Given the description of an element on the screen output the (x, y) to click on. 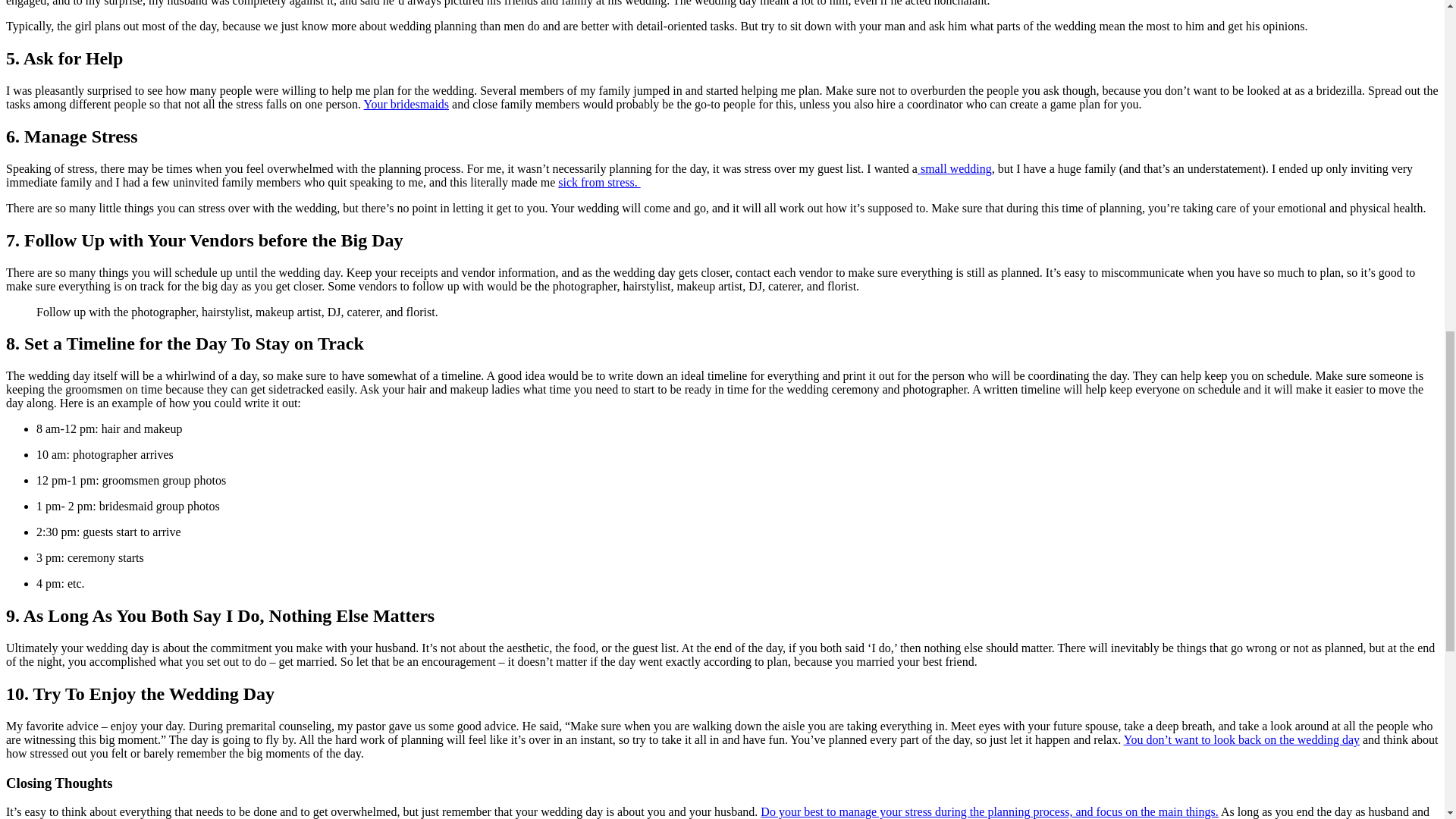
small wedding (954, 168)
Your bridesmaids (405, 103)
sick from stress.  (598, 182)
